Given the description of an element on the screen output the (x, y) to click on. 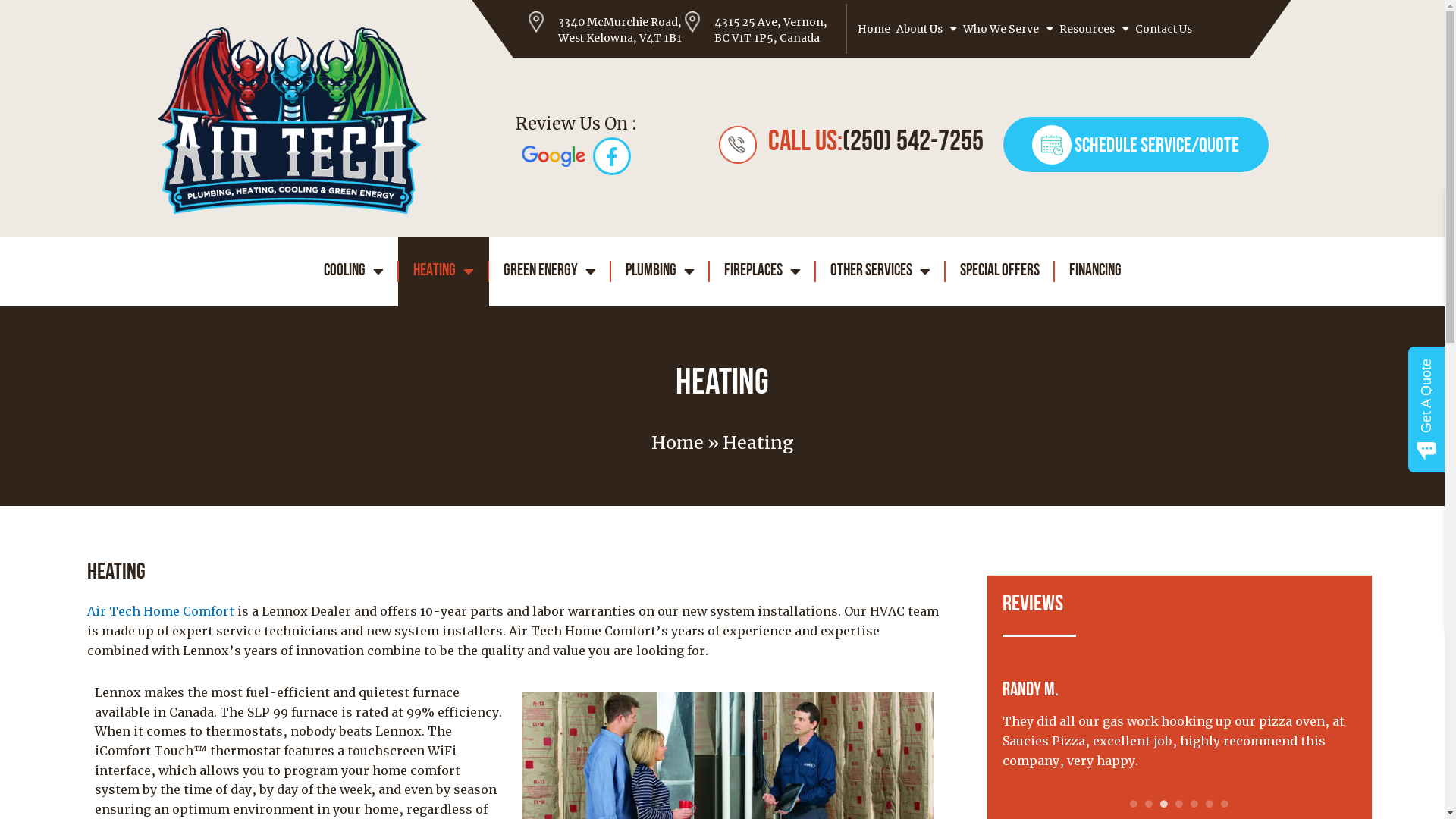
Contact Us Element type: text (1162, 28)
7 Element type: text (1224, 803)
Facebook-f Element type: text (611, 156)
FINANCING Element type: text (1095, 271)
4 Element type: text (1178, 803)
2 Element type: text (1148, 803)
6 Element type: text (1209, 803)
SCHEDULE SERVICE/QUOTE Element type: text (1134, 144)
HEATING Element type: text (442, 271)
4315 25 Ave, Vernon, BC V1T 1P5, Canada Element type: text (770, 29)
3340 McMurchie Road, West Kelowna, V4T 1B1 Element type: text (619, 29)
About Us Element type: text (926, 28)
PLUMBING Element type: text (659, 271)
FIREPLACES Element type: text (761, 271)
Air Tech Home Comfort Element type: text (160, 610)
Home Element type: text (676, 442)
3 Element type: text (1163, 803)
1 Element type: text (1133, 803)
GREEN ENERGY Element type: text (549, 271)
Who We Serve Element type: text (1008, 28)
(250) 542-7255 Element type: text (911, 142)
OTHER SERVICES Element type: text (879, 271)
Resources Element type: text (1093, 28)
5 Element type: text (1193, 803)
SPECIAL OFFERS Element type: text (999, 271)
Home Element type: text (872, 28)
COOLING Element type: text (352, 271)
